Given the description of an element on the screen output the (x, y) to click on. 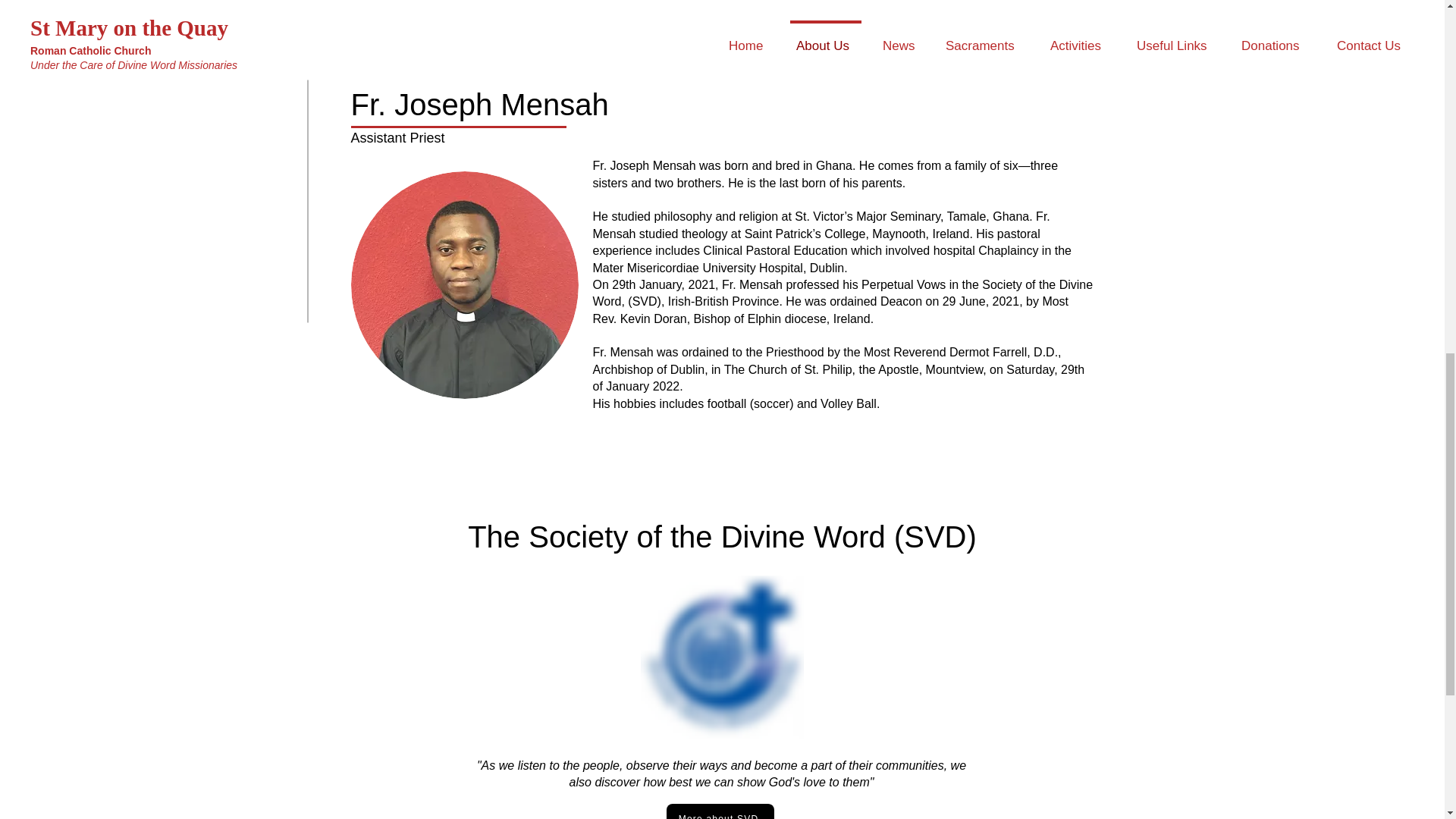
Priest Celebrating Mass (464, 284)
More about SVD (719, 811)
